Given the description of an element on the screen output the (x, y) to click on. 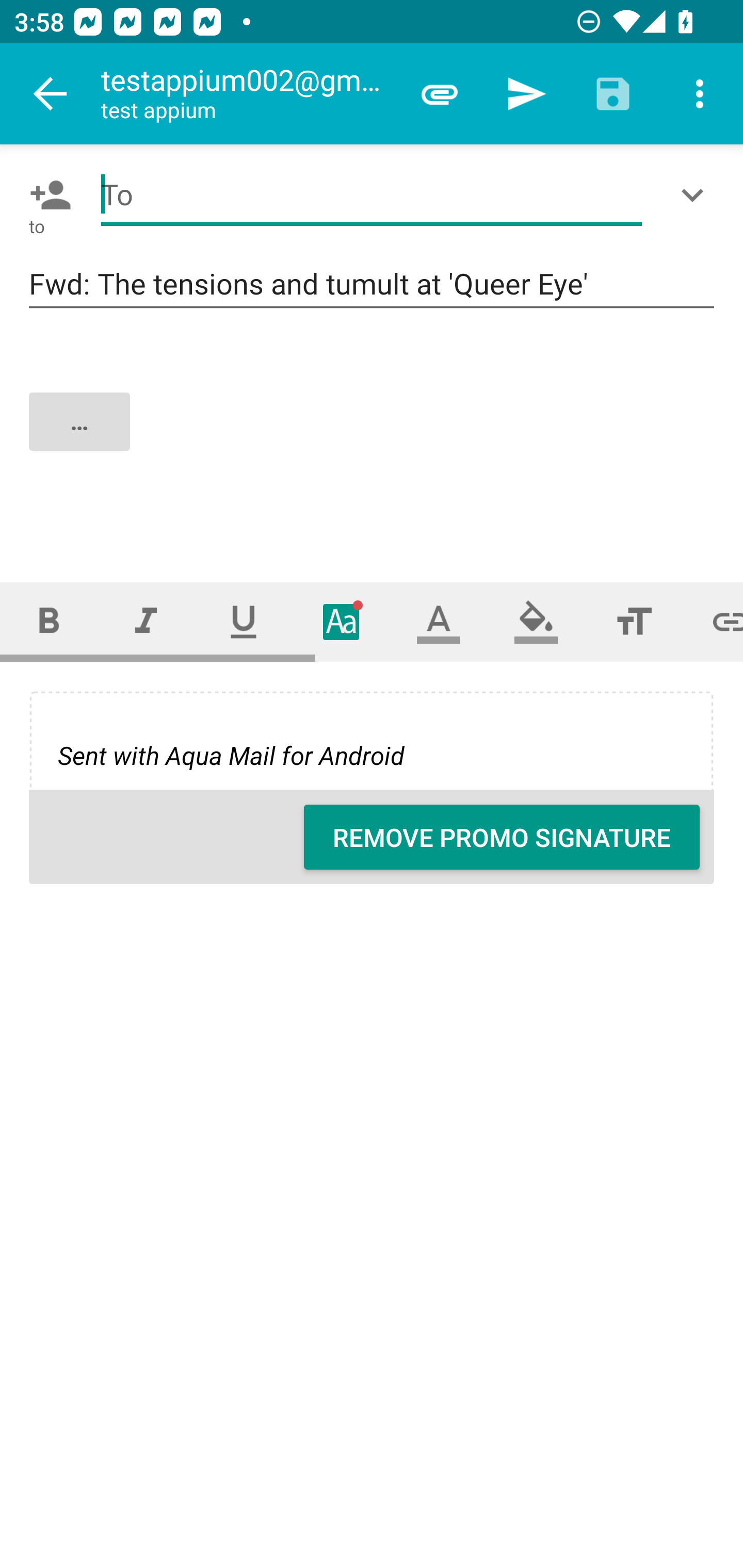
Navigate up (50, 93)
testappium002@gmail.com test appium (248, 93)
Attach (439, 93)
Send (525, 93)
Save (612, 93)
More options (699, 93)
Pick contact: To (46, 195)
Show/Add CC/BCC (696, 195)
To (371, 195)
Fwd: The tensions and tumult at 'Queer Eye' (371, 284)

…
 (372, 438)
Bold (48, 621)
Italic (145, 621)
Underline (243, 621)
Typeface (font) (341, 621)
Text color (438, 621)
Fill color (536, 621)
Font size (633, 621)
REMOVE PROMO SIGNATURE (501, 837)
